Given the description of an element on the screen output the (x, y) to click on. 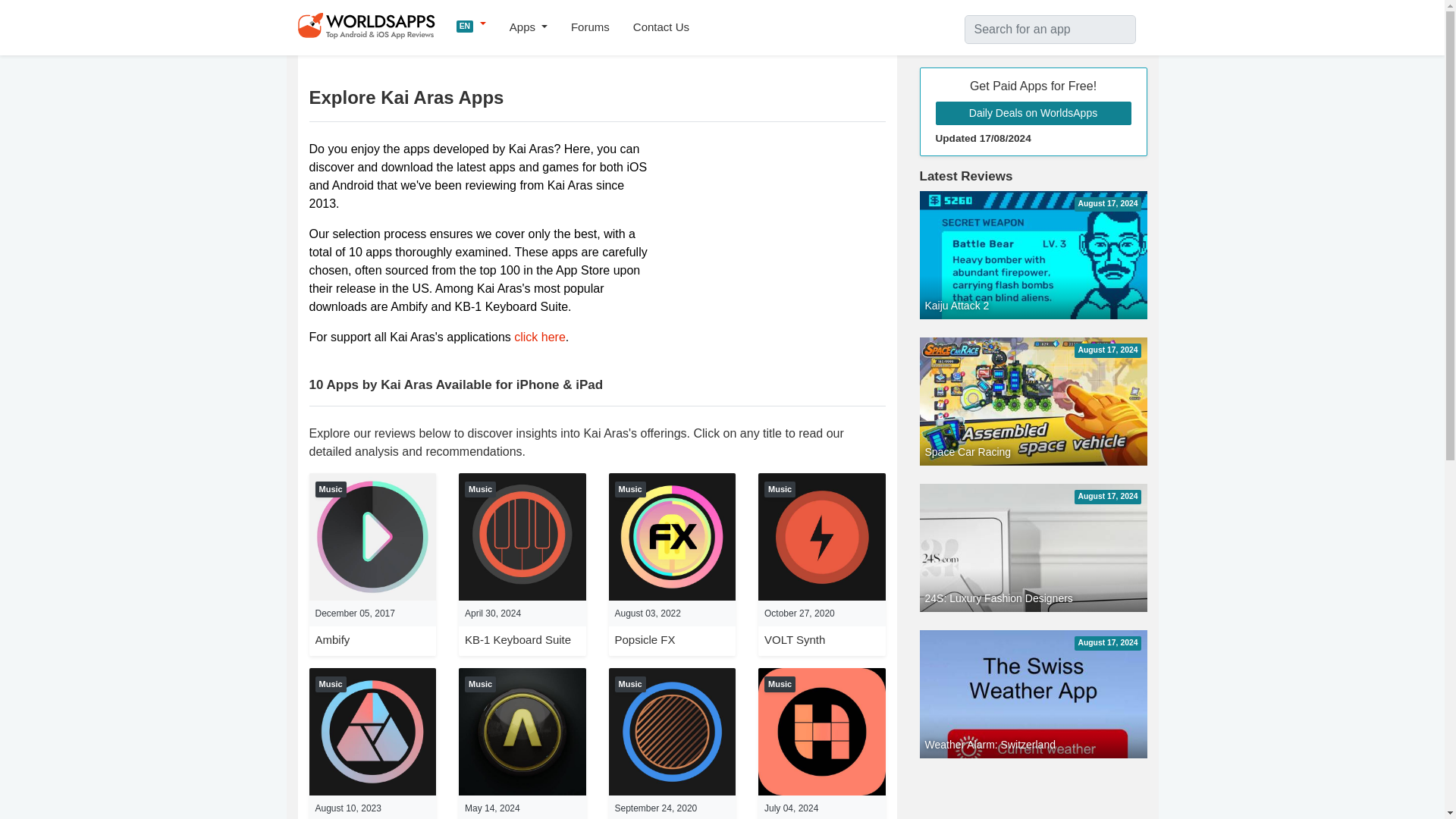
KB-1 Keyboard Suite (522, 535)
Space Car Racing (1032, 400)
VOLT Synth (794, 639)
Popsicle FX (671, 535)
click here (539, 336)
Popsicle FX (644, 639)
Artifacts Lofi Processor (372, 730)
EN (471, 24)
Ambify (372, 535)
Agonizer (522, 730)
